Given the description of an element on the screen output the (x, y) to click on. 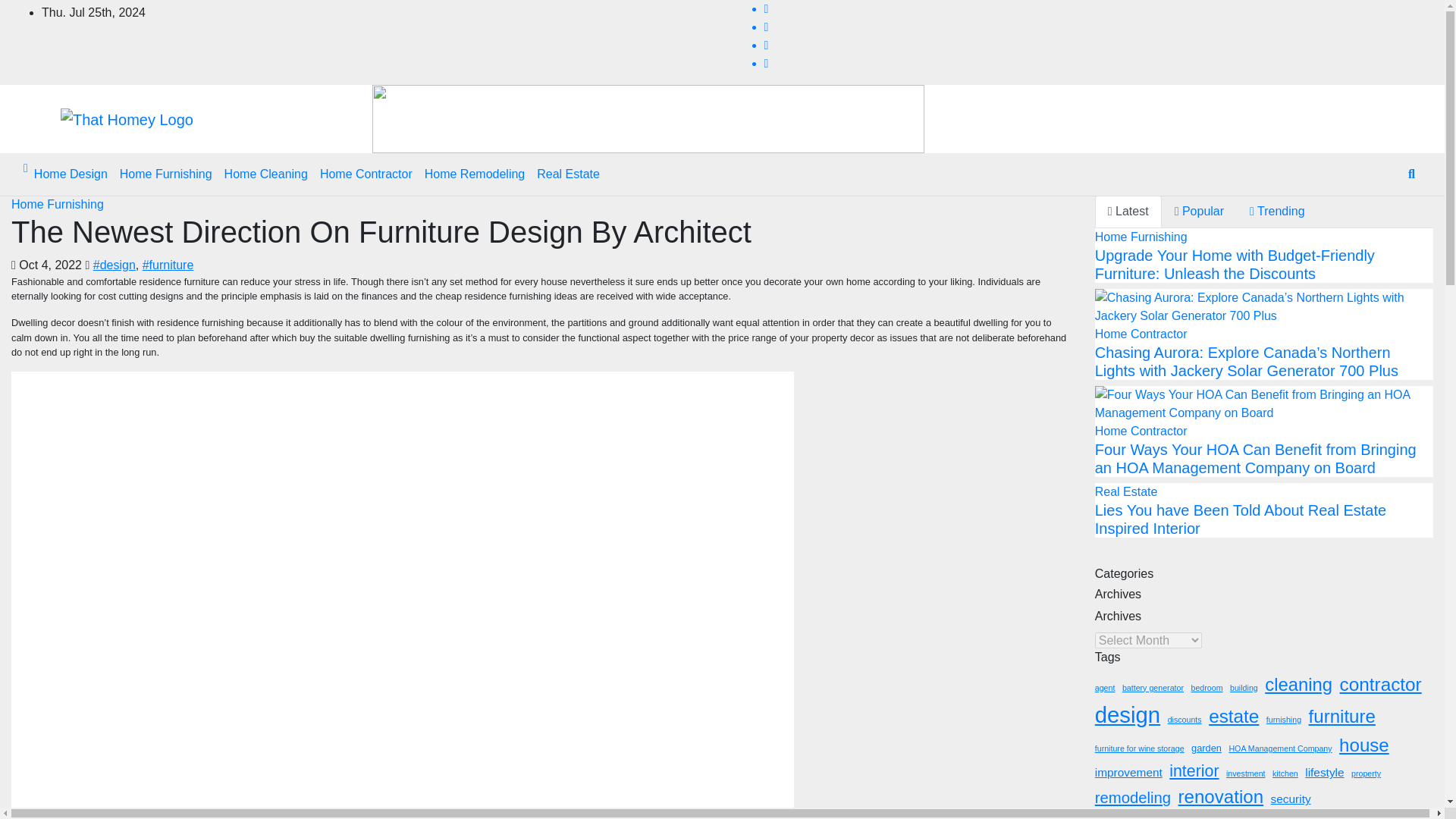
Real Estate (568, 173)
Home Remodeling (475, 173)
Home Contractor (366, 173)
Real Estate (568, 173)
Home Contractor (366, 173)
Home Design (70, 173)
Home Furnishing (165, 173)
Home Furnishing (165, 173)
Home Furnishing (57, 204)
The Newest Direction On Furniture Design By Architect (381, 231)
Home Cleaning (266, 173)
Home Remodeling (475, 173)
Home Cleaning (266, 173)
